Given the description of an element on the screen output the (x, y) to click on. 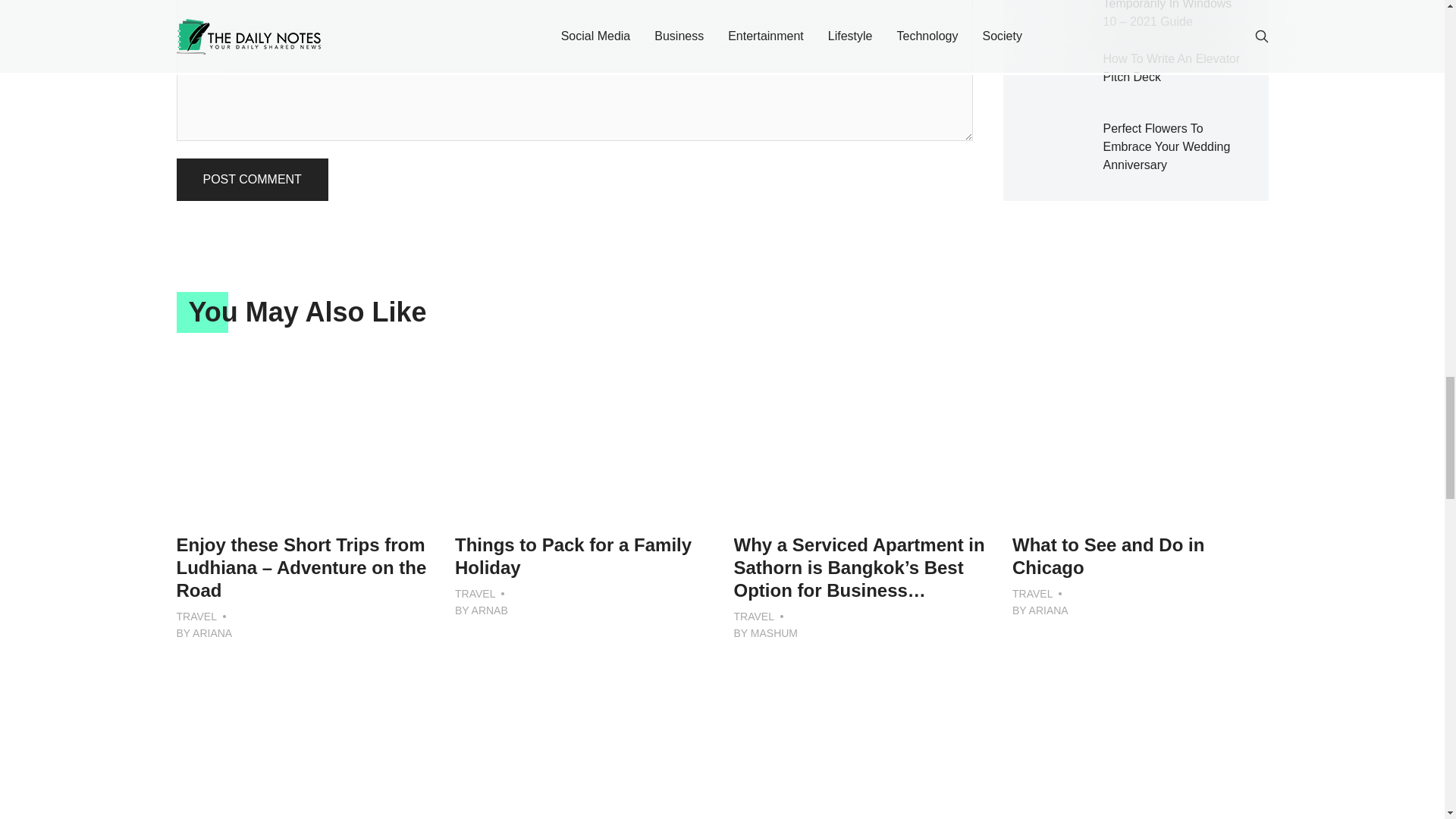
Travel (1031, 593)
Travel (753, 616)
Travel (474, 593)
Travel (195, 616)
Post Comment (251, 179)
